Given the description of an element on the screen output the (x, y) to click on. 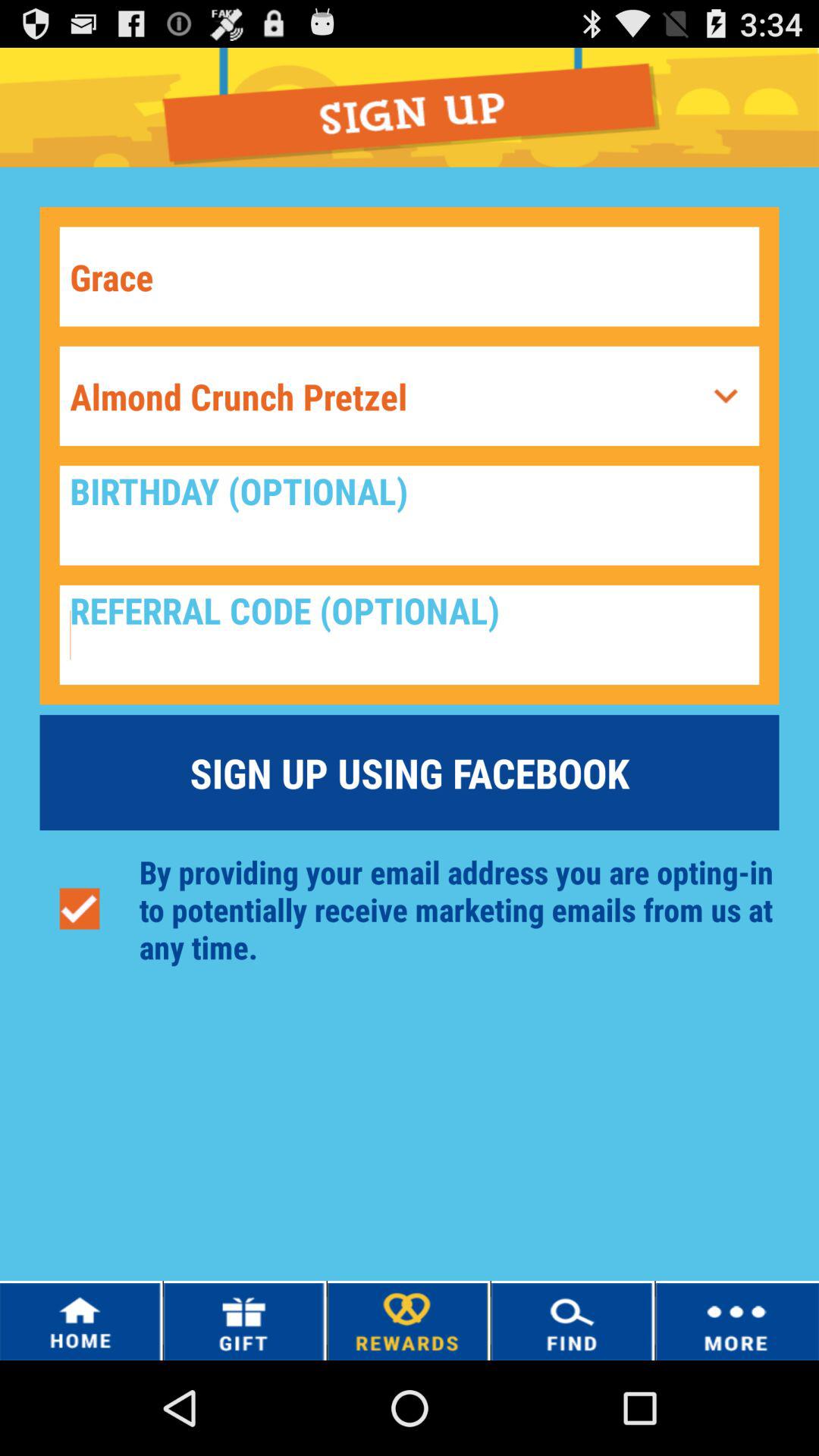
click on find button (572, 1320)
select the option rewards (407, 1320)
click on the right of home (243, 1320)
click on the box below birthday (409, 634)
select the text grace below sign up (409, 276)
click on the check box which is left side of the page (79, 909)
